Given the description of an element on the screen output the (x, y) to click on. 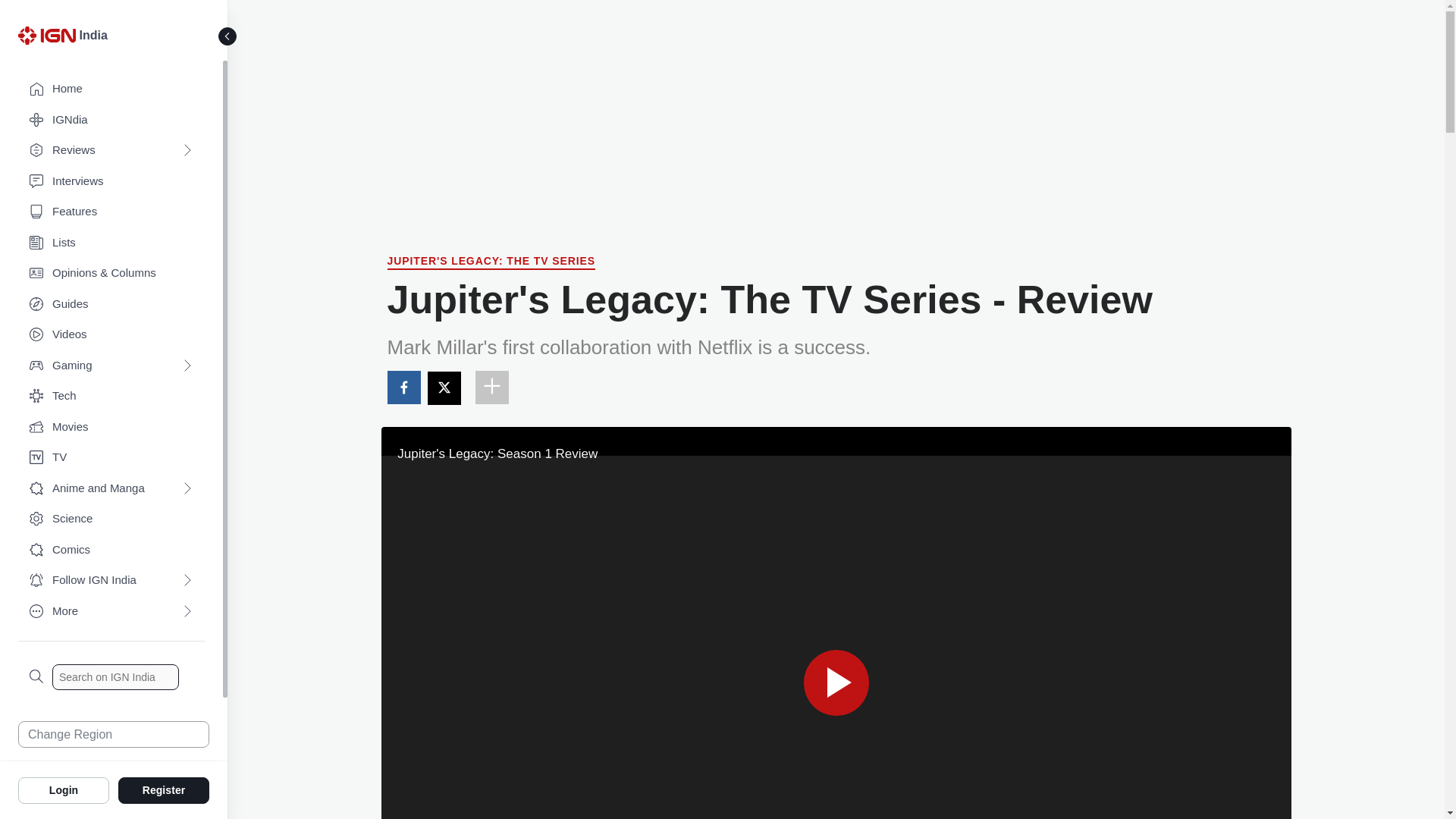
Videos (111, 334)
IGN Logo (46, 34)
Home (111, 89)
Tech (111, 396)
Science (111, 518)
Follow IGN India (111, 580)
Reviews (111, 150)
Comics (111, 550)
Movies (111, 427)
Features (111, 211)
